Given the description of an element on the screen output the (x, y) to click on. 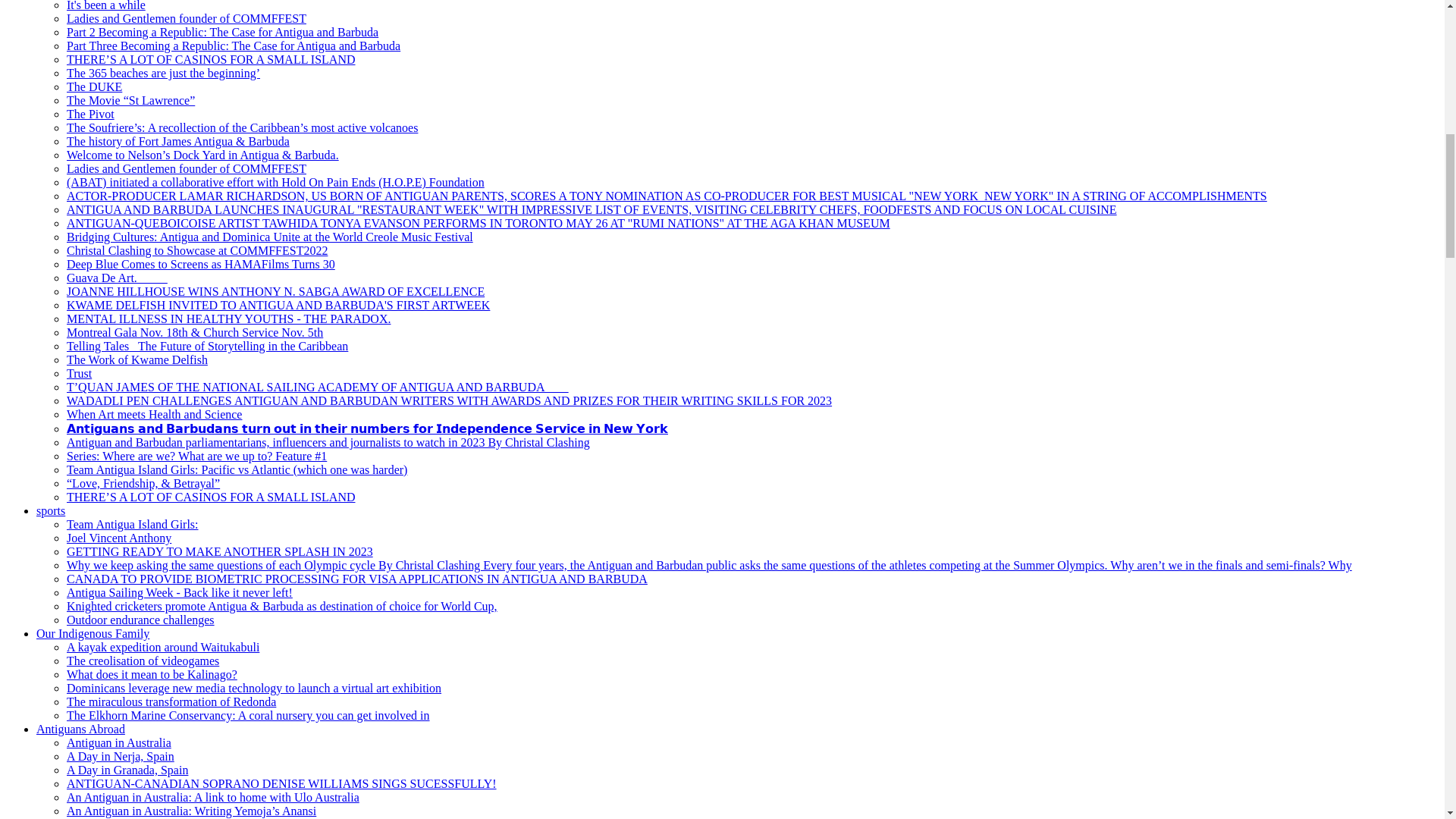
Description of spirist. (275, 182)
Description of tic. (210, 496)
Description of spih. (140, 619)
Description of pisul. (185, 168)
Description of br. (356, 578)
